Given the description of an element on the screen output the (x, y) to click on. 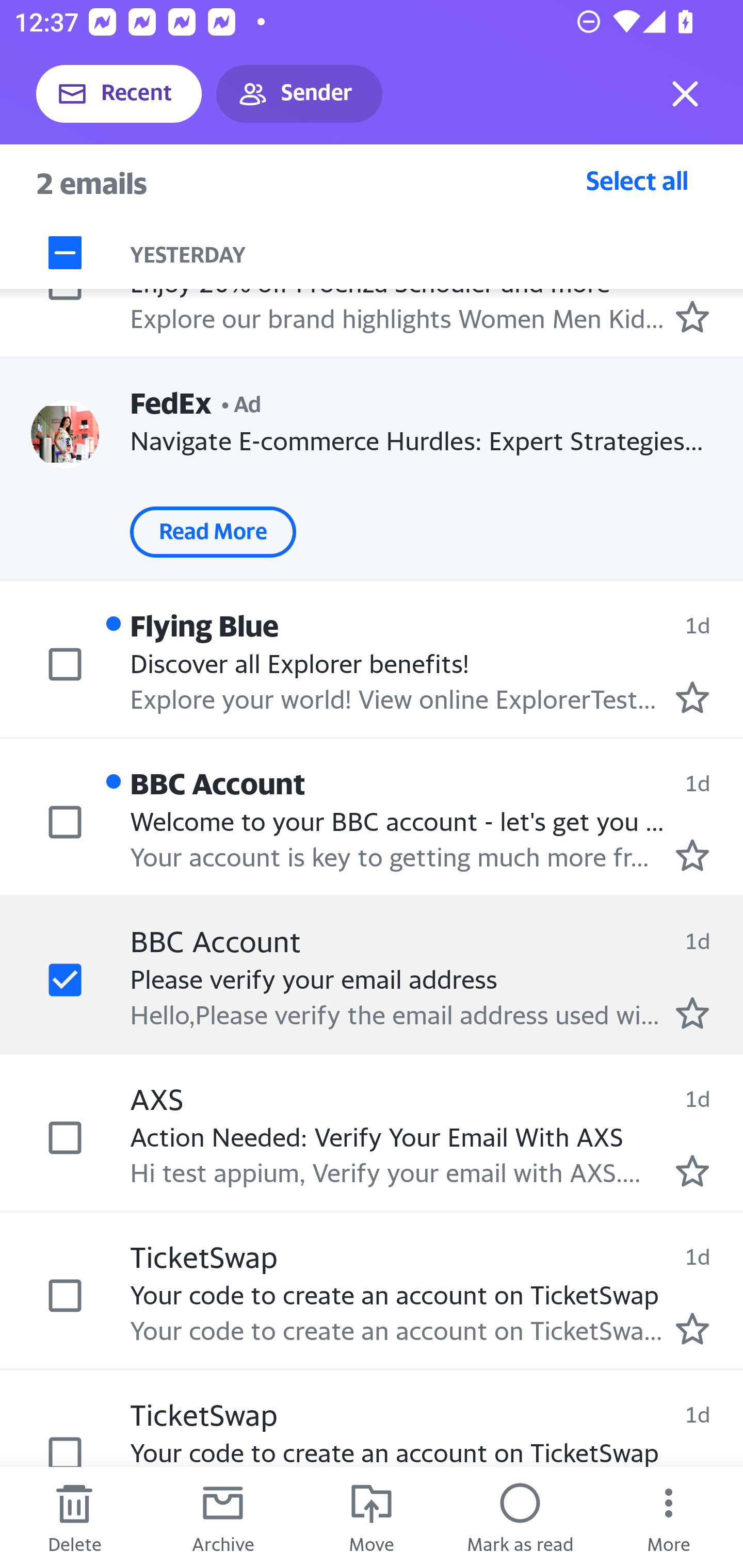
Sender (299, 93)
Exit selection mode (684, 93)
Select all (637, 180)
Mark as starred. (692, 315)
Mark as starred. (692, 696)
Mark as starred. (692, 855)
Mark as starred. (692, 1013)
Mark as starred. (692, 1170)
Mark as starred. (692, 1328)
Delete (74, 1517)
Archive (222, 1517)
Move (371, 1517)
Mark as read (519, 1517)
More (668, 1517)
